Given the description of an element on the screen output the (x, y) to click on. 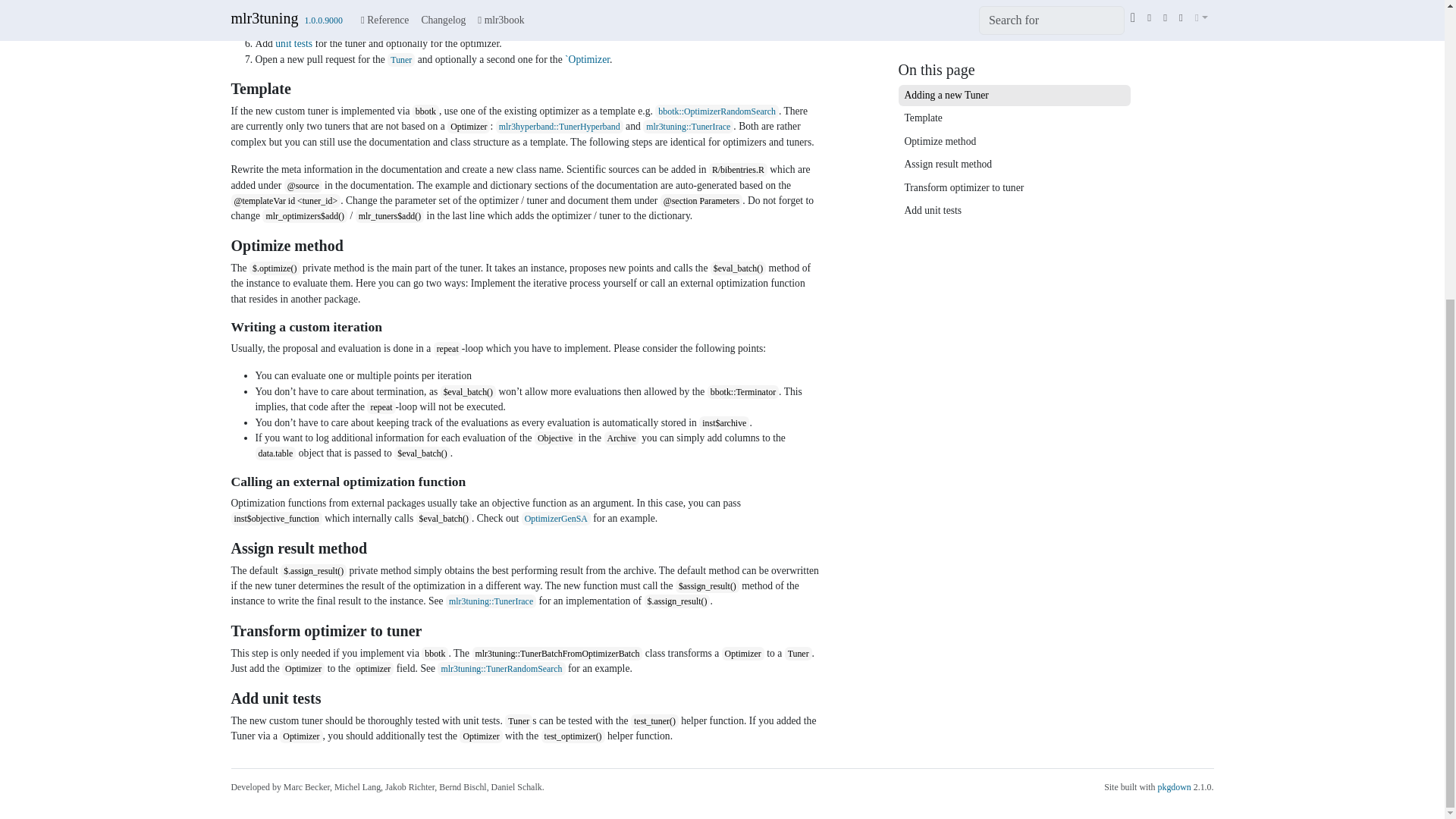
unit tests (294, 43)
bbotk::OptimizerRandomSearch (716, 111)
mlr3tuning::TunerIrace (688, 125)
.optimize (334, 1)
mlr3tuning::TunerIrace (490, 600)
Tuner (400, 59)
OptimizerGenSA (556, 518)
bbotk::Terminator (743, 391)
mlr3tuning::TunerBatchFromOptimizerBatch (374, 28)
mlr3hyperband::TunerHyperband (559, 125)
